Given the description of an element on the screen output the (x, y) to click on. 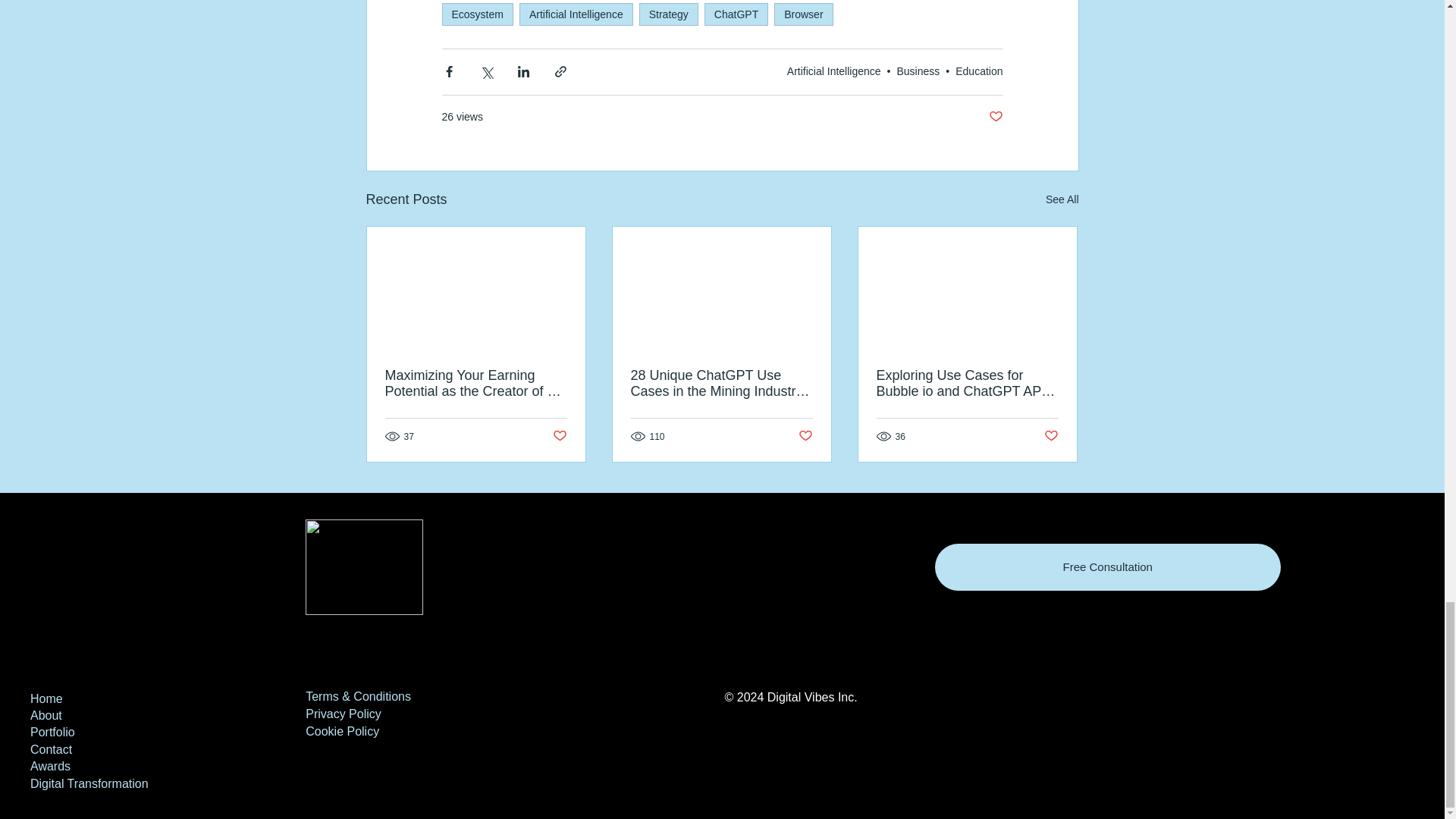
Education (979, 70)
Artificial Intelligence (833, 70)
Browser (803, 14)
Post not marked as liked (995, 116)
ChatGPT (736, 14)
Strategy (668, 14)
See All (1061, 199)
Artificial Intelligence (576, 14)
Ecosystem (476, 14)
Business (917, 70)
